Given the description of an element on the screen output the (x, y) to click on. 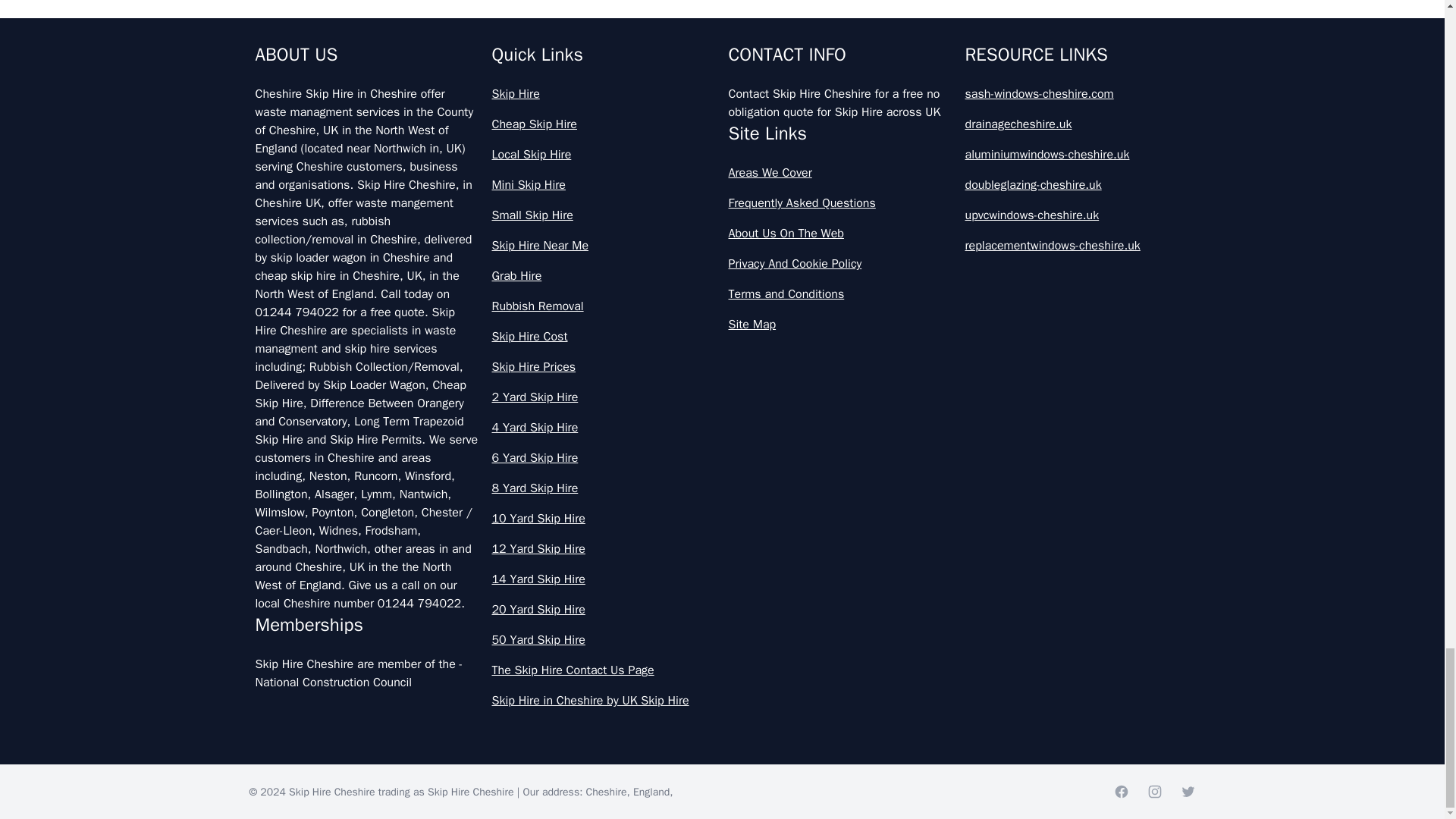
What Is Grab Hire In Cheshire (722, 80)
Is Grab Hire Cheaper Than A Skip In Cheshire (722, 18)
upvcwindows-cheshire.uk (1076, 215)
drainagecheshire.uk (1076, 124)
Skip Hire in Cheshire by UK Skip Hire (604, 700)
aluminiumwindows-cheshire.uk (1076, 154)
Site Map (840, 324)
replacementwindows-cheshire.uk (1076, 245)
sash-windows-cheshire.com (1076, 94)
doubleglazing-cheshire.uk (1076, 185)
